Given the description of an element on the screen output the (x, y) to click on. 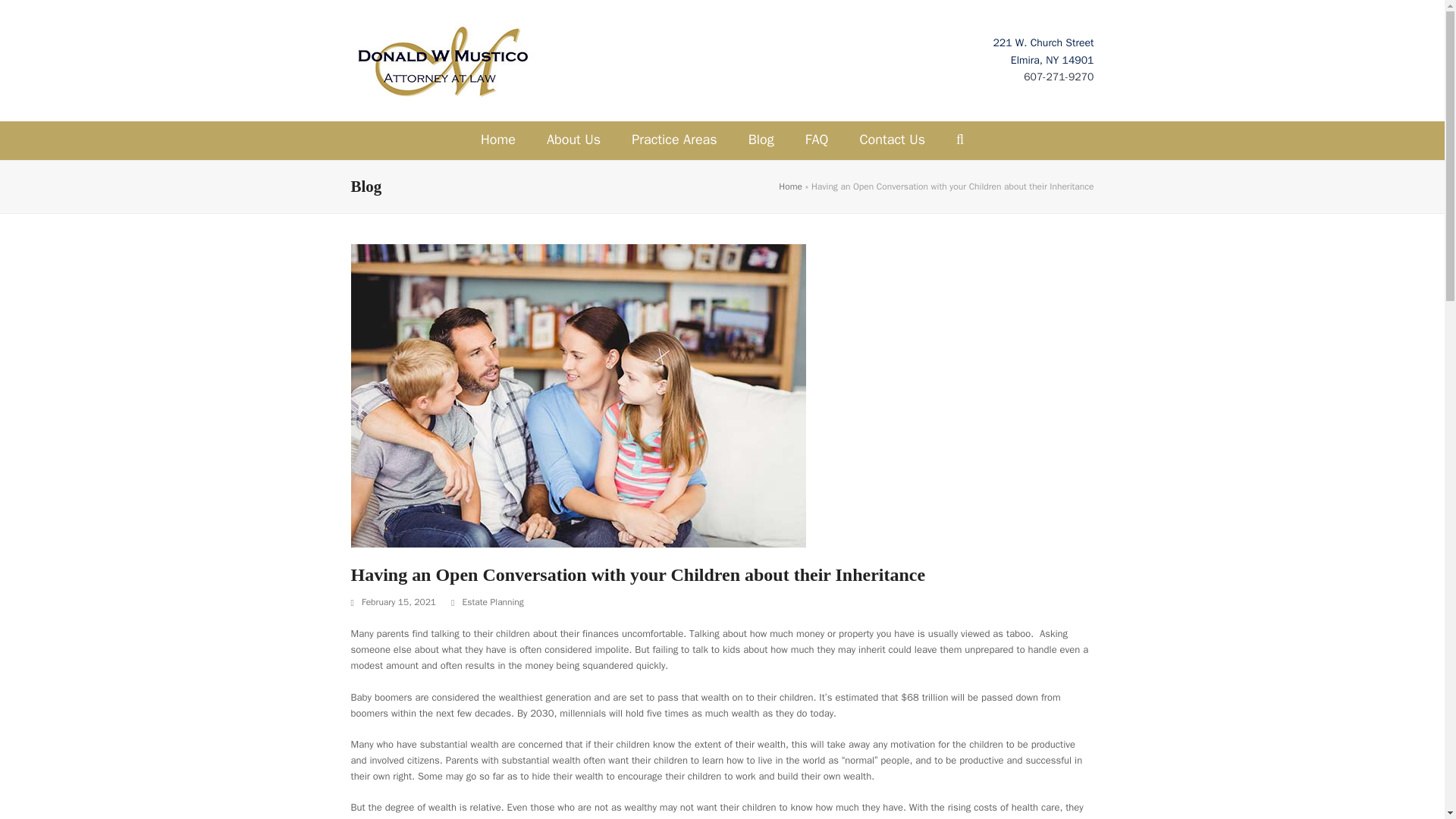
Blog (761, 140)
FAQ (817, 140)
Home (790, 186)
About Us (573, 140)
607-271-9270 (1058, 76)
Estate Planning (491, 602)
Practice Areas (673, 140)
Home (498, 140)
Contact Us (892, 140)
